Given the description of an element on the screen output the (x, y) to click on. 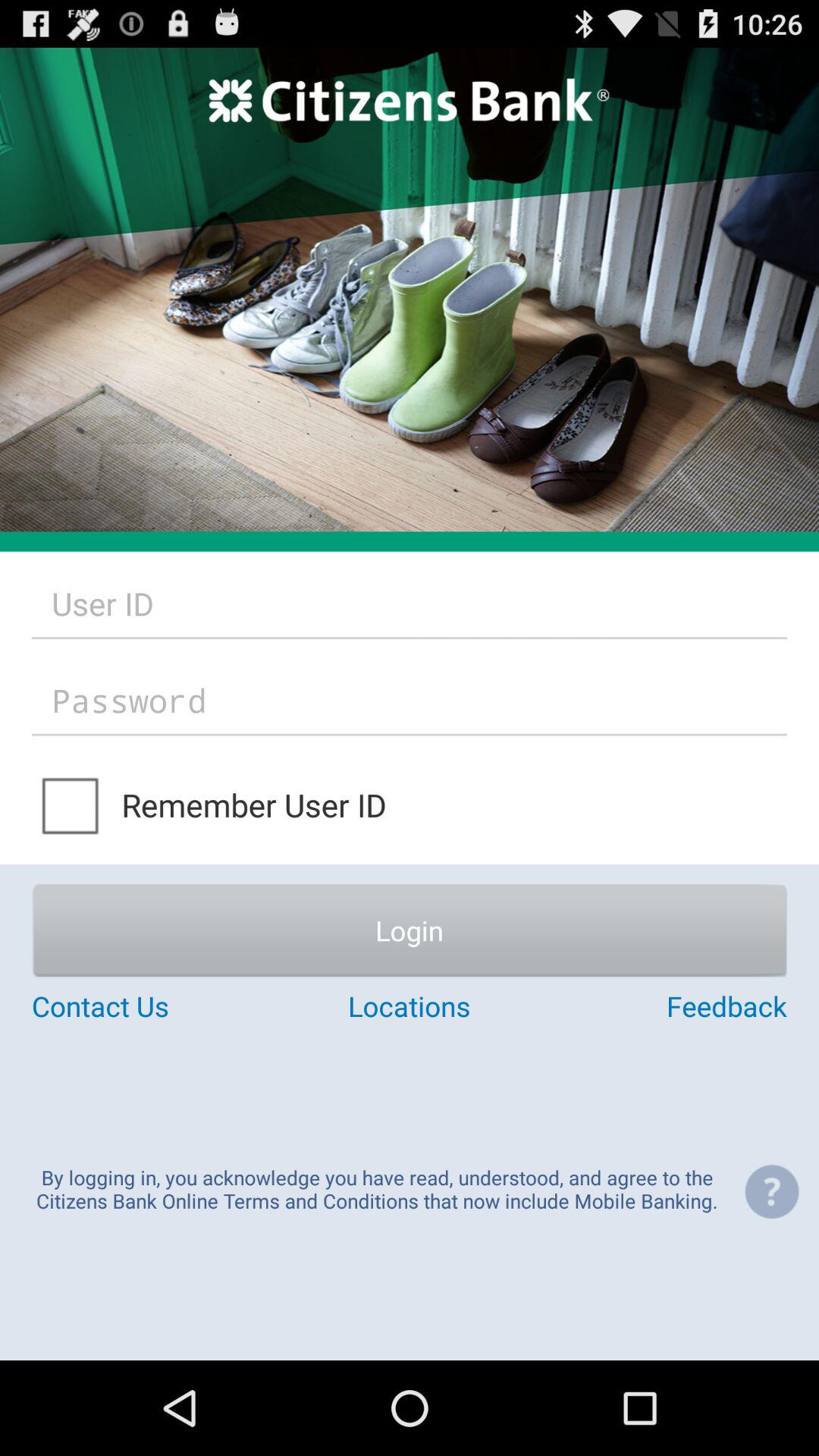
click app next to the contact us item (409, 1005)
